Given the description of an element on the screen output the (x, y) to click on. 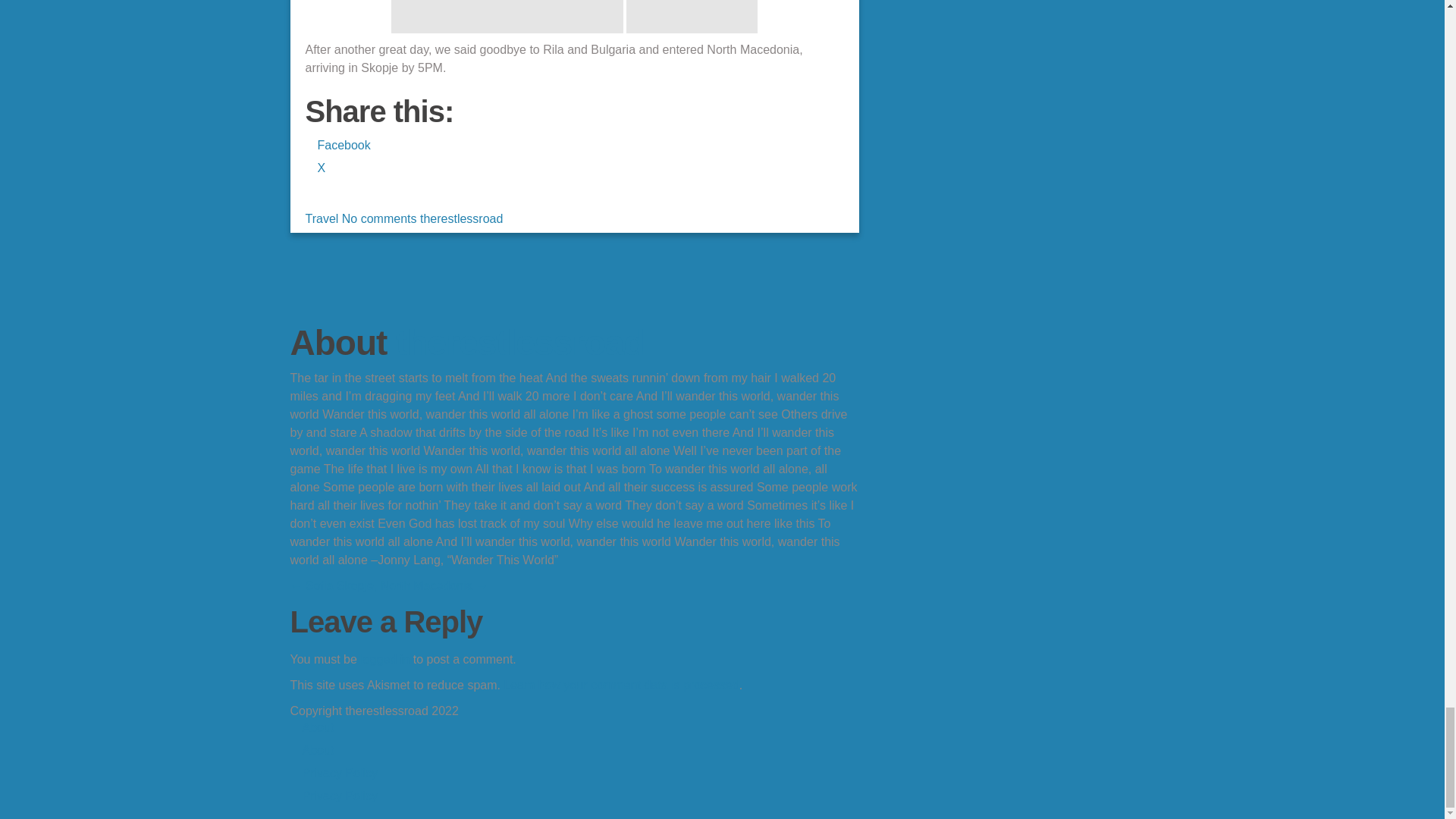
logged in (384, 658)
Travel (320, 218)
Learn how your comment data is processed (620, 684)
Posts by therestlessroad (461, 218)
Facebook (343, 144)
therestlessroad (520, 342)
Click to share on Facebook (343, 144)
No comments (379, 218)
therestlessroad (461, 218)
